Given the description of an element on the screen output the (x, y) to click on. 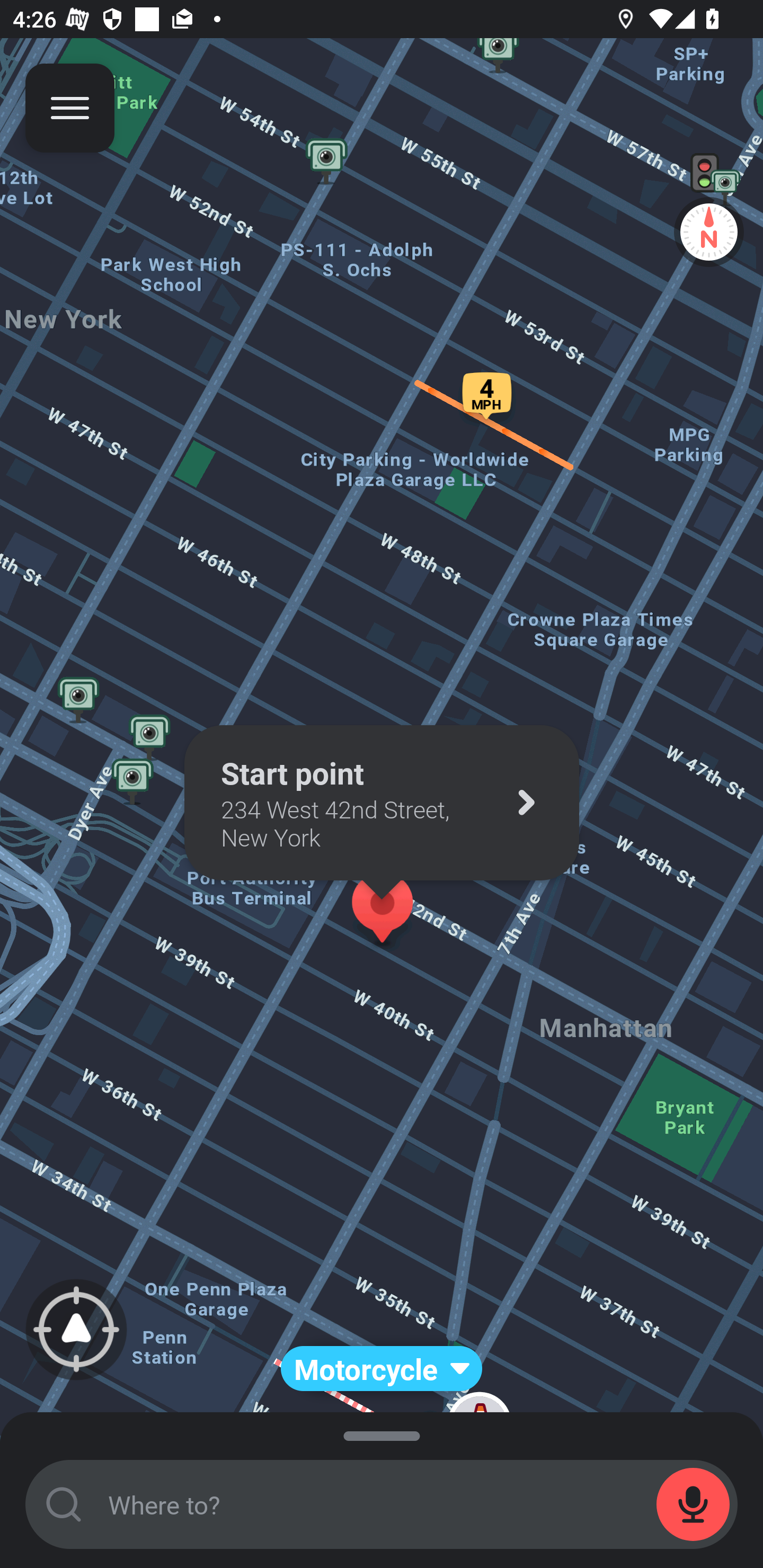
Start point 234 West 42nd Street, New York (381, 802)
Motorcycle (381, 1368)
SUGGESTIONS_SHEET_DRAG_HANDLE (381, 1432)
START_STATE_SEARCH_FIELD Where to? (381, 1504)
